Given the description of an element on the screen output the (x, y) to click on. 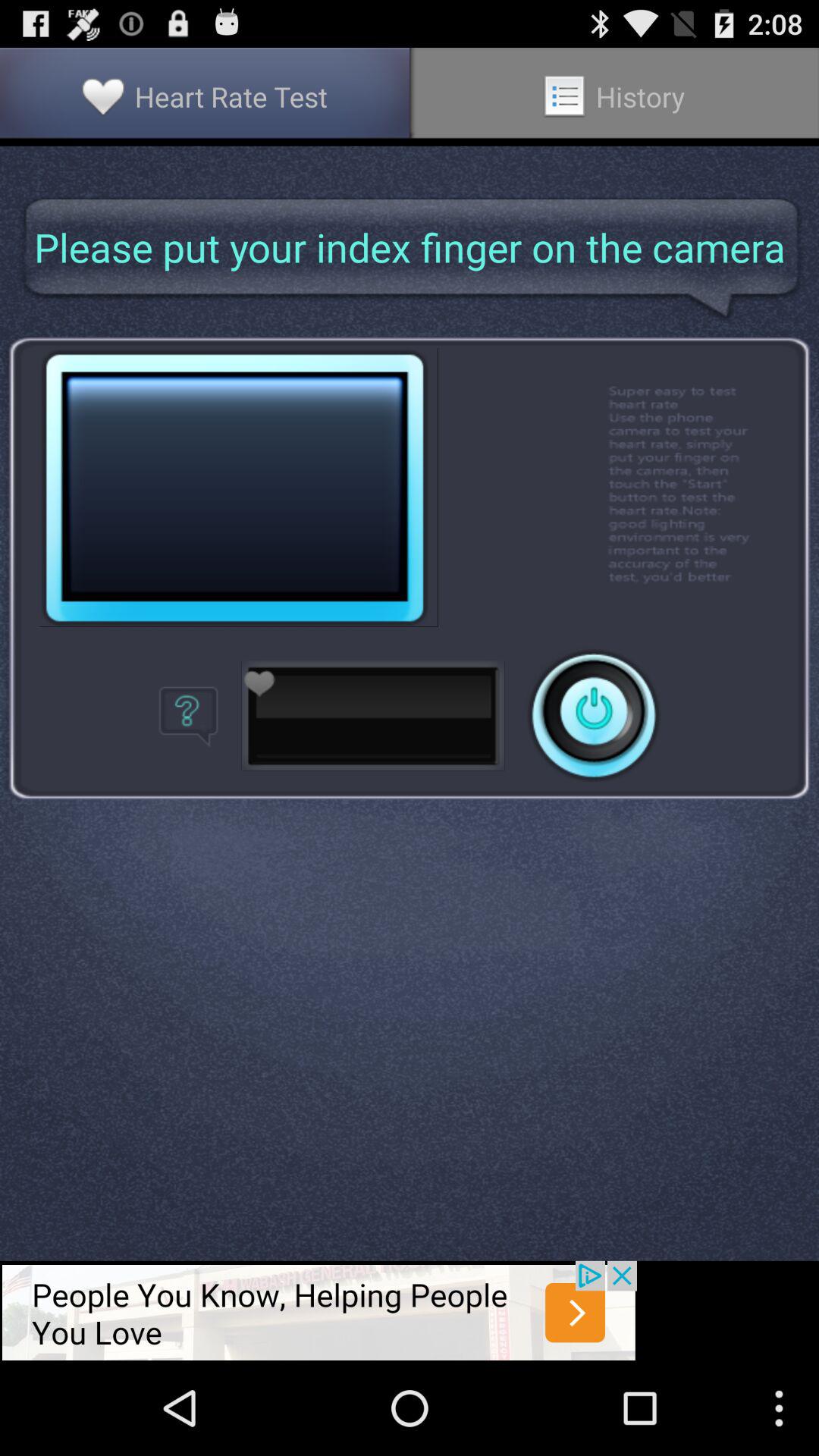
power off (593, 715)
